Given the description of an element on the screen output the (x, y) to click on. 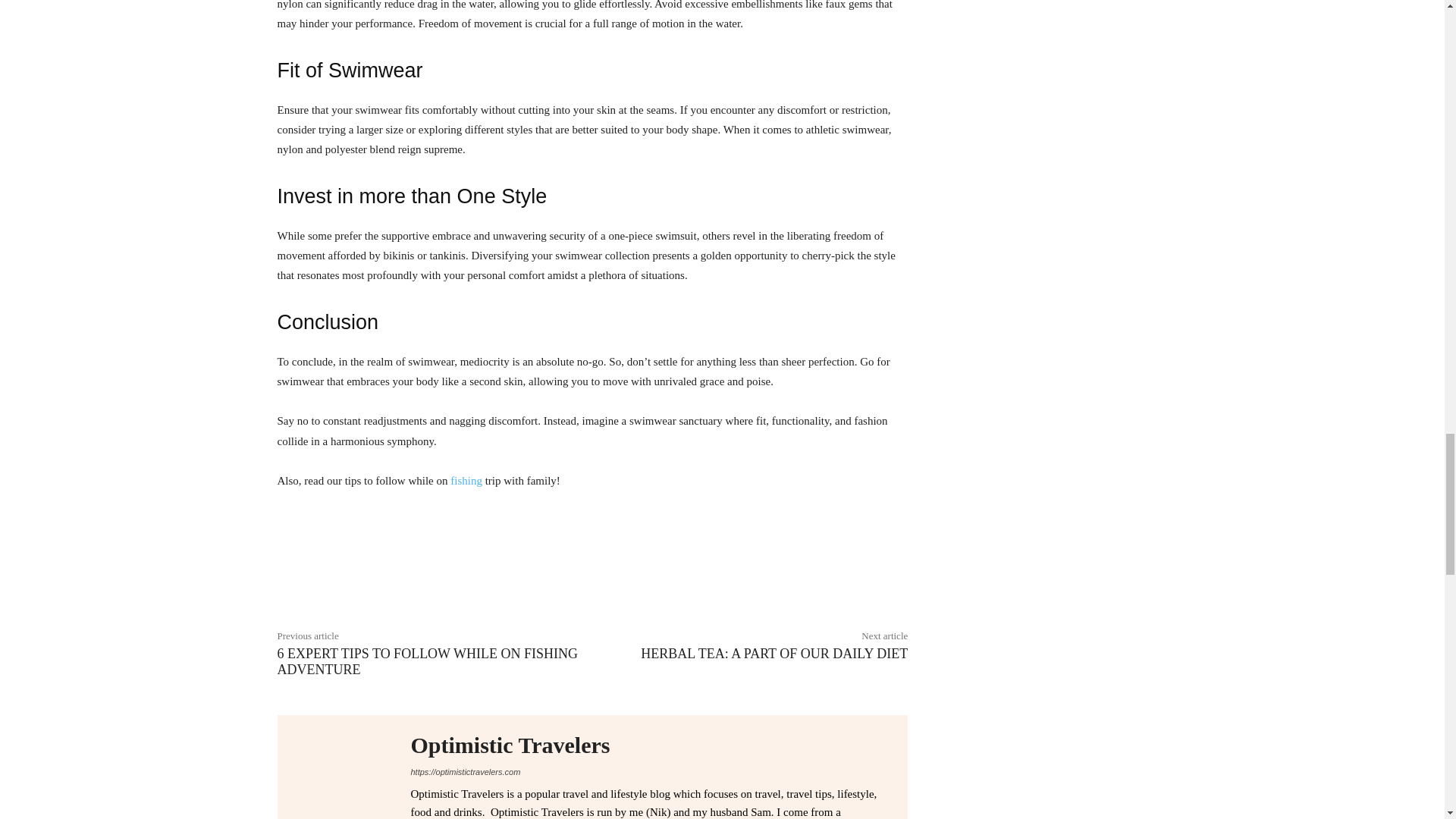
fishing (465, 480)
HERBAL TEA: A PART OF OUR DAILY DIET (773, 653)
6 EXPERT TIPS TO FOLLOW WHILE ON FISHING ADVENTURE (428, 662)
